Given the description of an element on the screen output the (x, y) to click on. 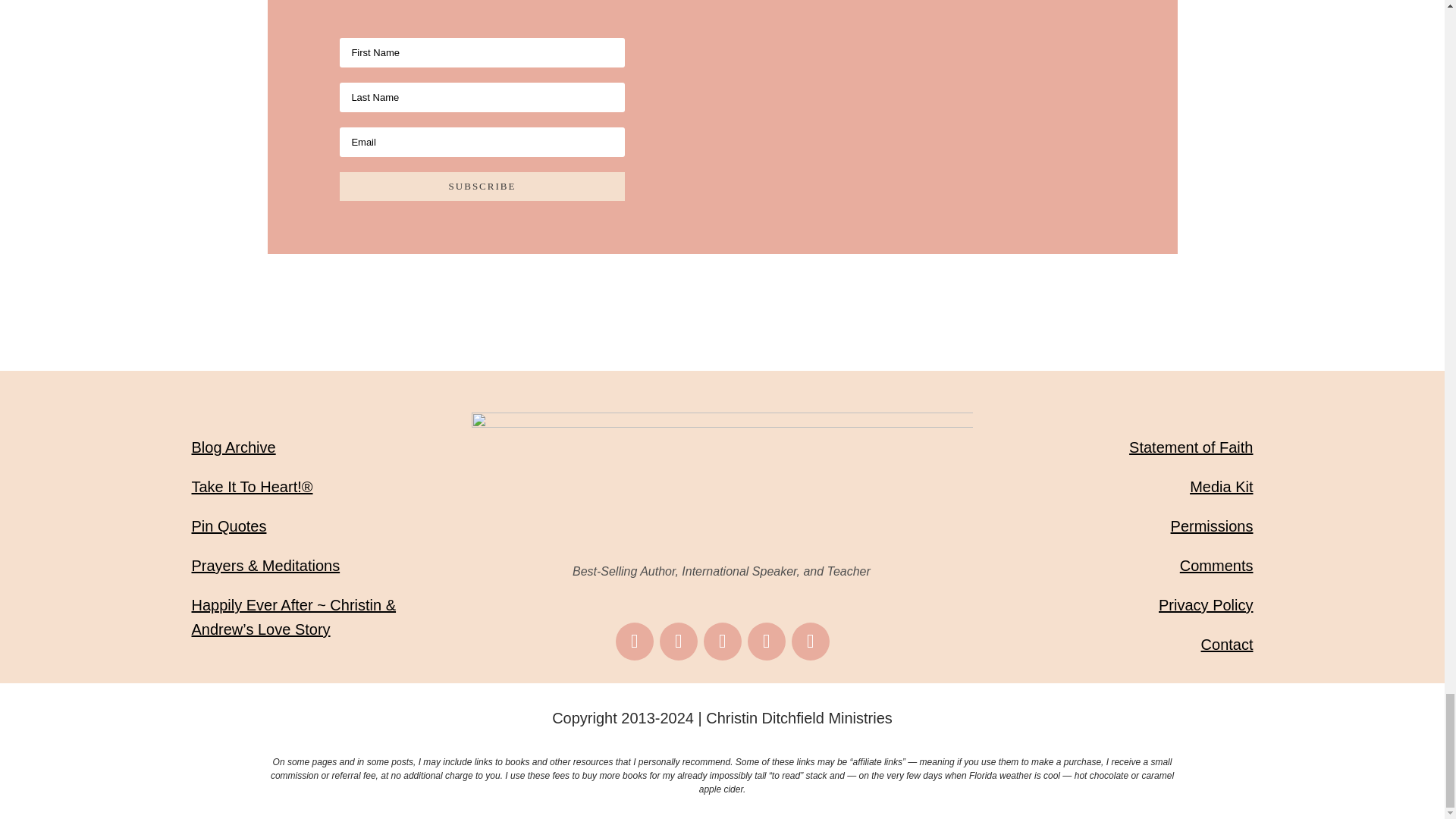
Christin Ditchfield LS (722, 483)
Follow on Instagram (678, 641)
Follow on X (767, 641)
Follow on Facebook (634, 641)
Follow on Pinterest (722, 641)
